Given the description of an element on the screen output the (x, y) to click on. 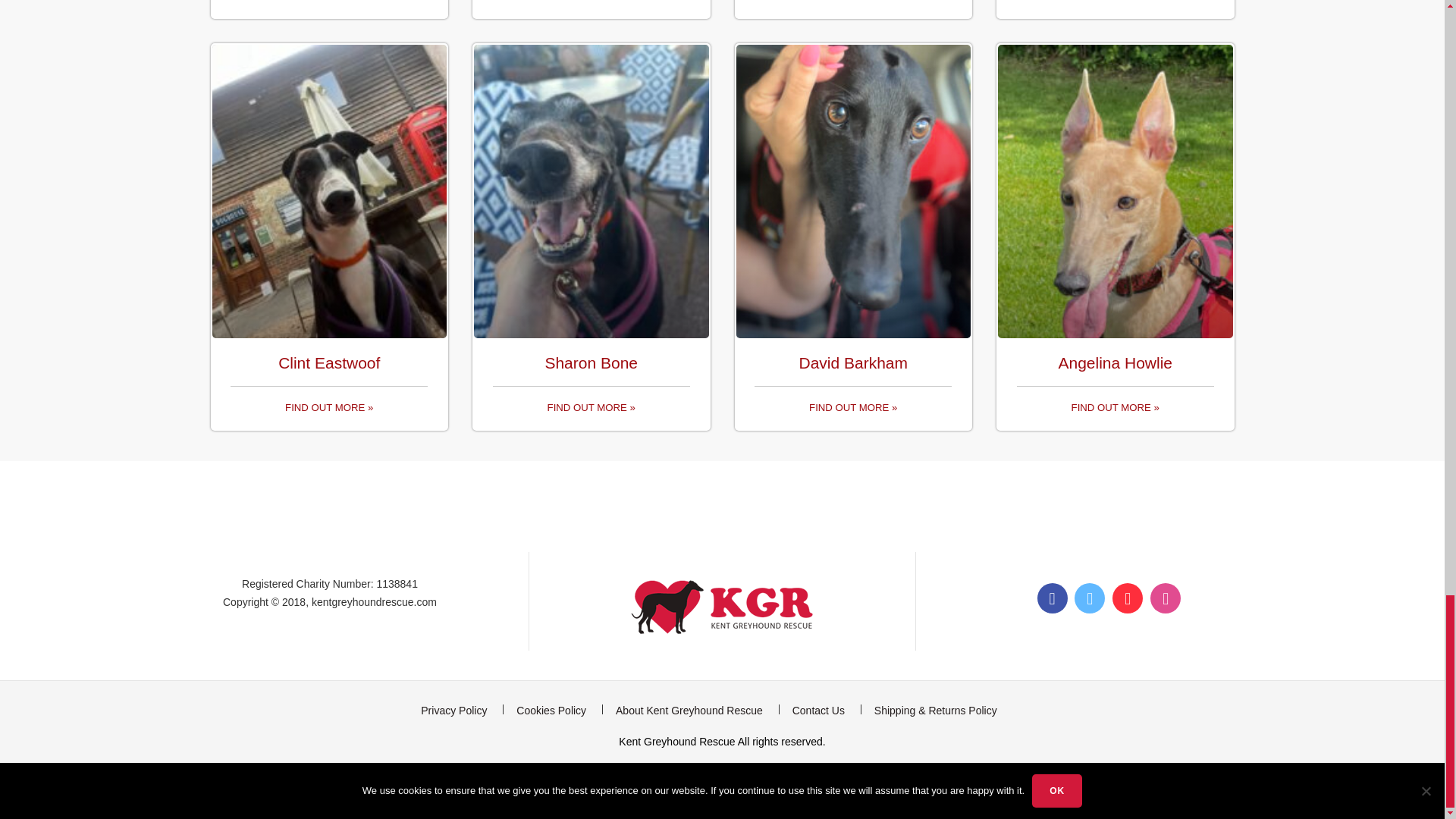
Facebook (1051, 598)
Kent Greyhound Rescue (677, 741)
Youtube (1127, 598)
Twitter (1089, 598)
Instagram (1165, 598)
